Given the description of an element on the screen output the (x, y) to click on. 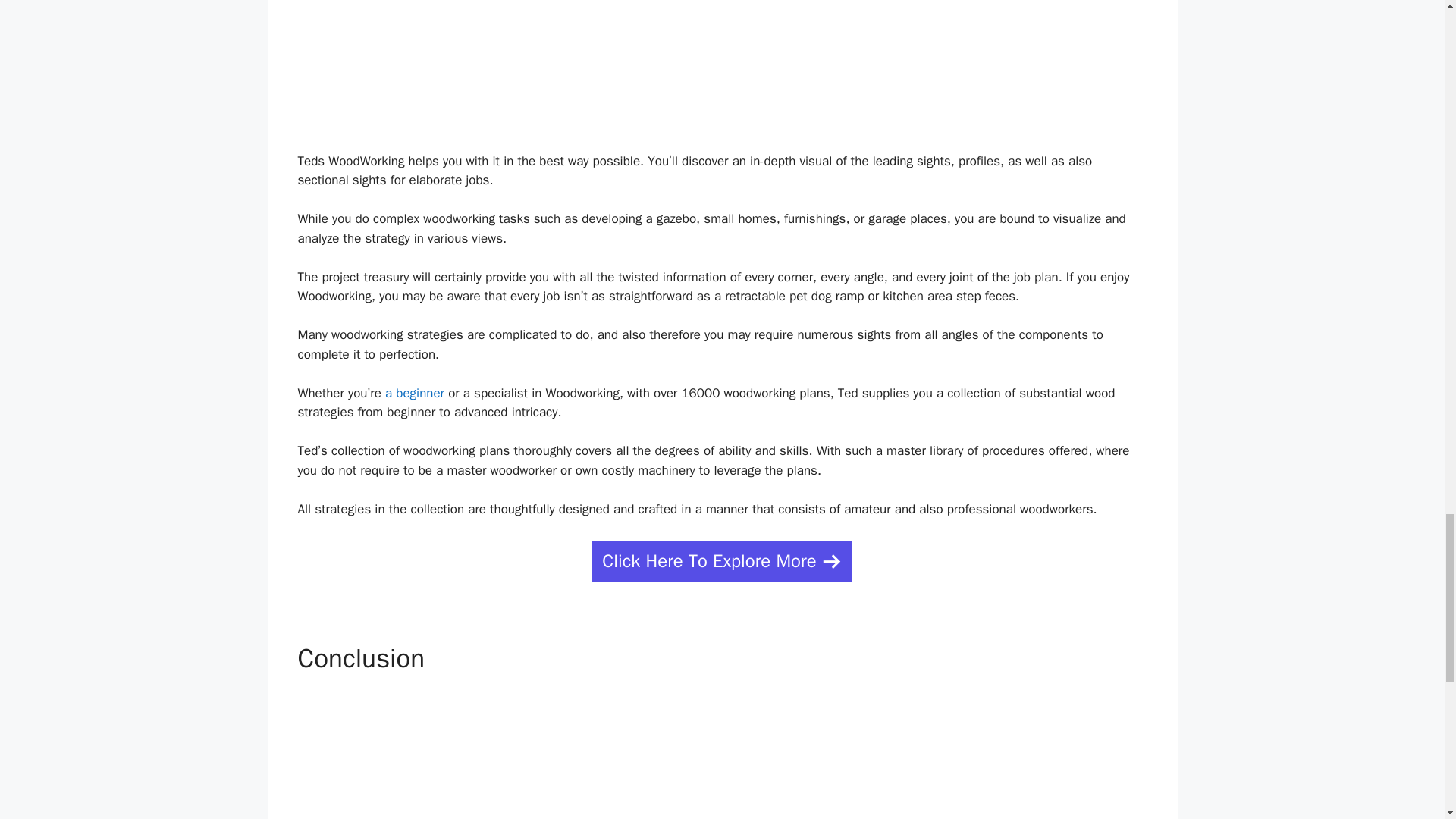
a beginner (414, 392)
Click Here To Explore More (721, 561)
